Given the description of an element on the screen output the (x, y) to click on. 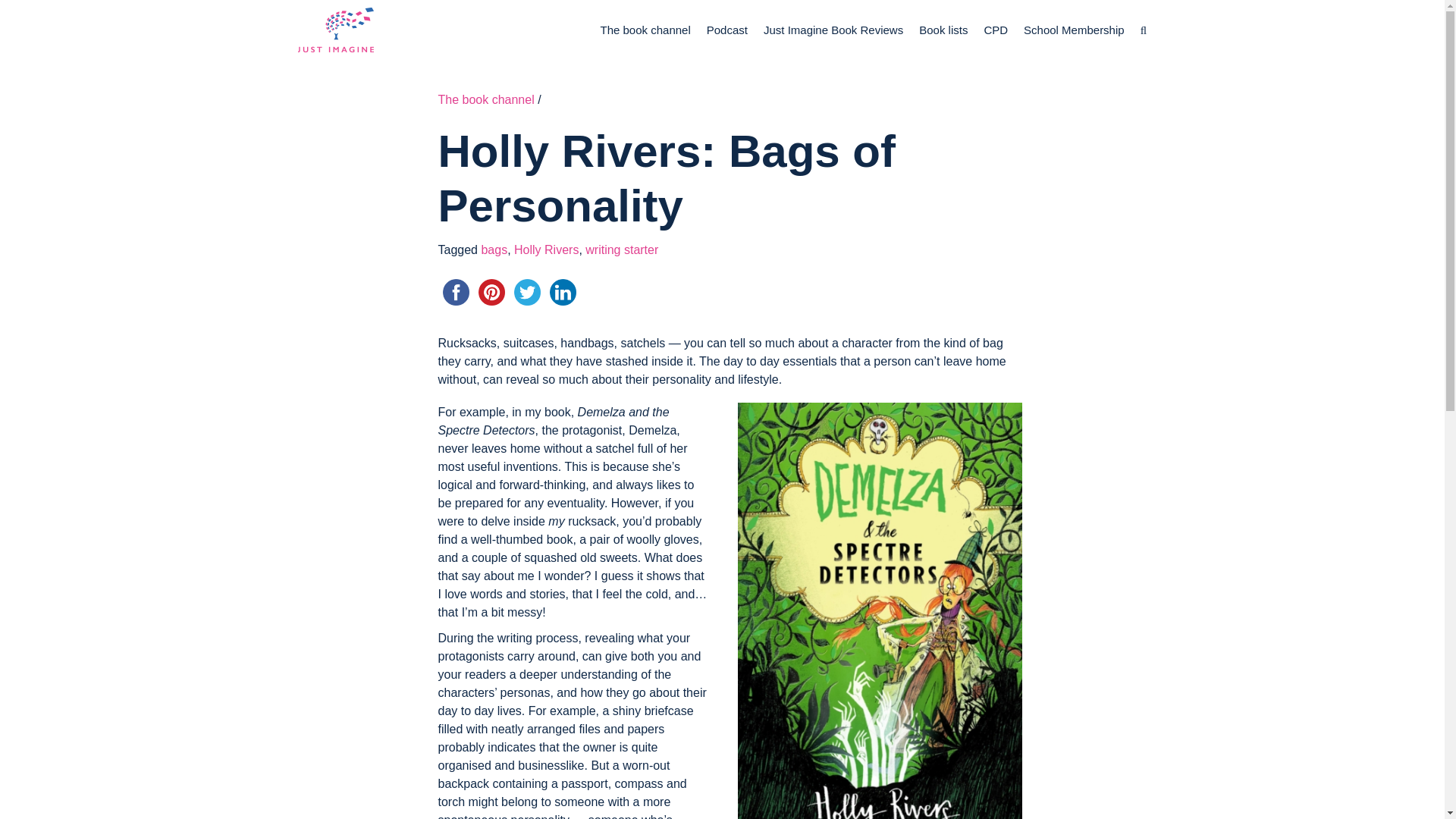
Holly Rivers (545, 249)
facebook (456, 292)
Just Imagine Book Reviews (833, 29)
Podcast (726, 29)
School Membership (1074, 29)
The book channel (486, 99)
pinterest (490, 292)
linkedin (561, 292)
The book channel (645, 29)
Book lists (943, 29)
